Given the description of an element on the screen output the (x, y) to click on. 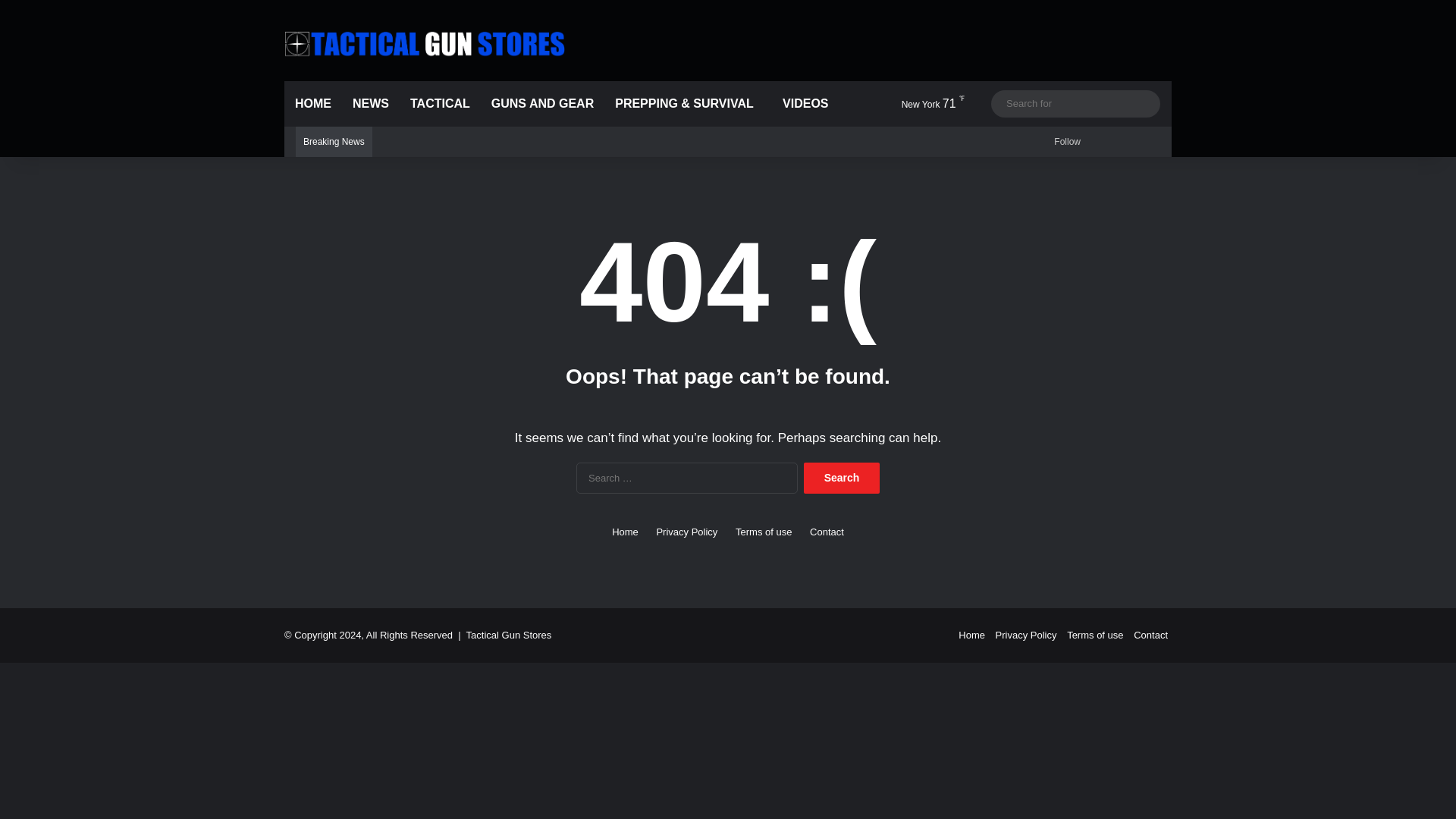
HOME (312, 103)
VIDEOS (802, 103)
Search (841, 477)
Search (841, 477)
Terms of use (763, 531)
Search for (1075, 103)
Privacy Policy (686, 531)
Follow (1064, 141)
Search (841, 477)
Search for (1144, 103)
